Given the description of an element on the screen output the (x, y) to click on. 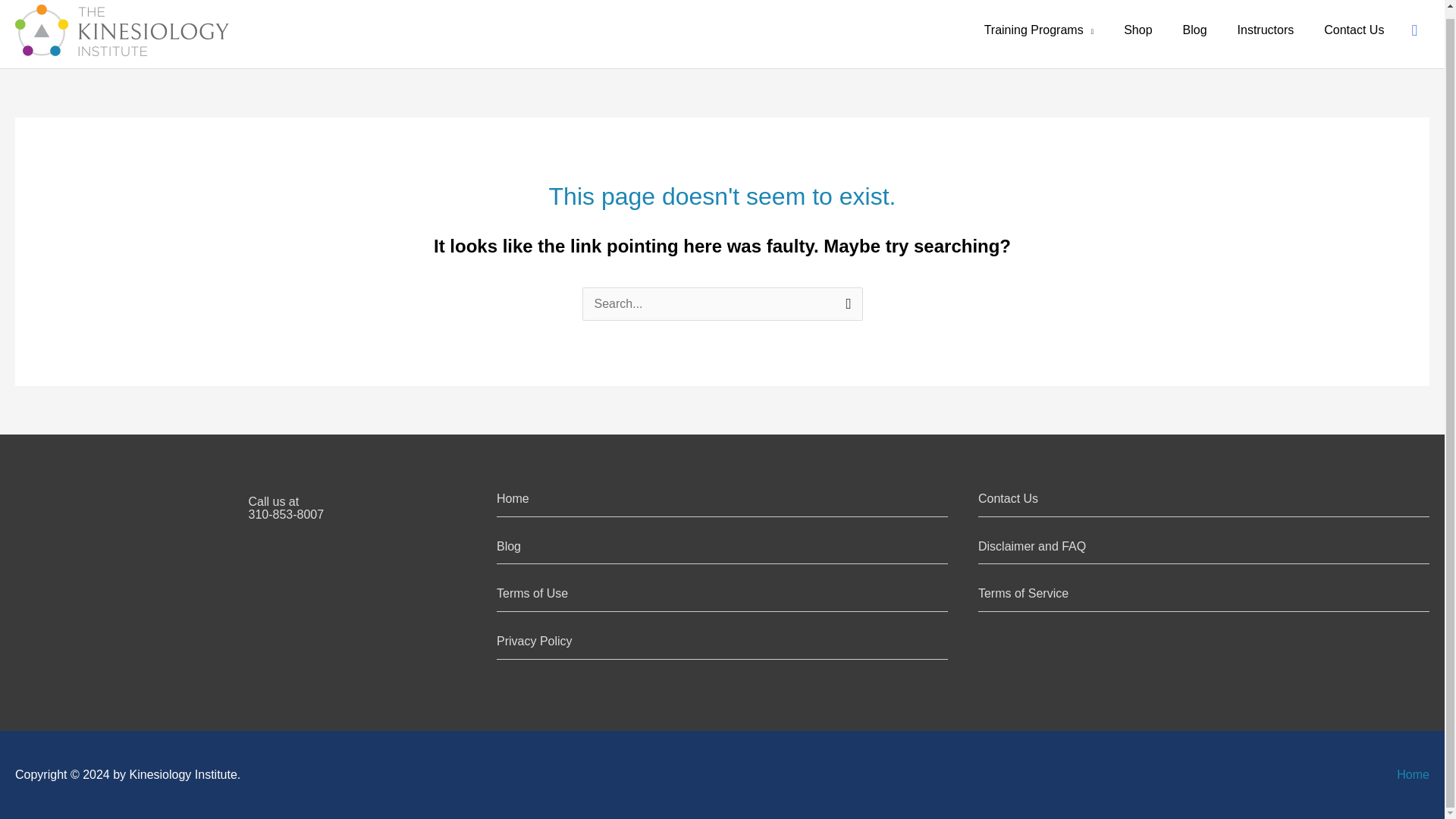
Terms of Use (531, 593)
Kinesiology Privacy Policy (534, 640)
Kinesiology Courses and muscle testing (512, 498)
Instructors (1265, 33)
Privacy Policy (534, 640)
Kinesiology blog (285, 508)
Home (508, 545)
Kinesiology Terms of Service (512, 498)
Kinesiology frequently asked questions (1023, 593)
